Given the description of an element on the screen output the (x, y) to click on. 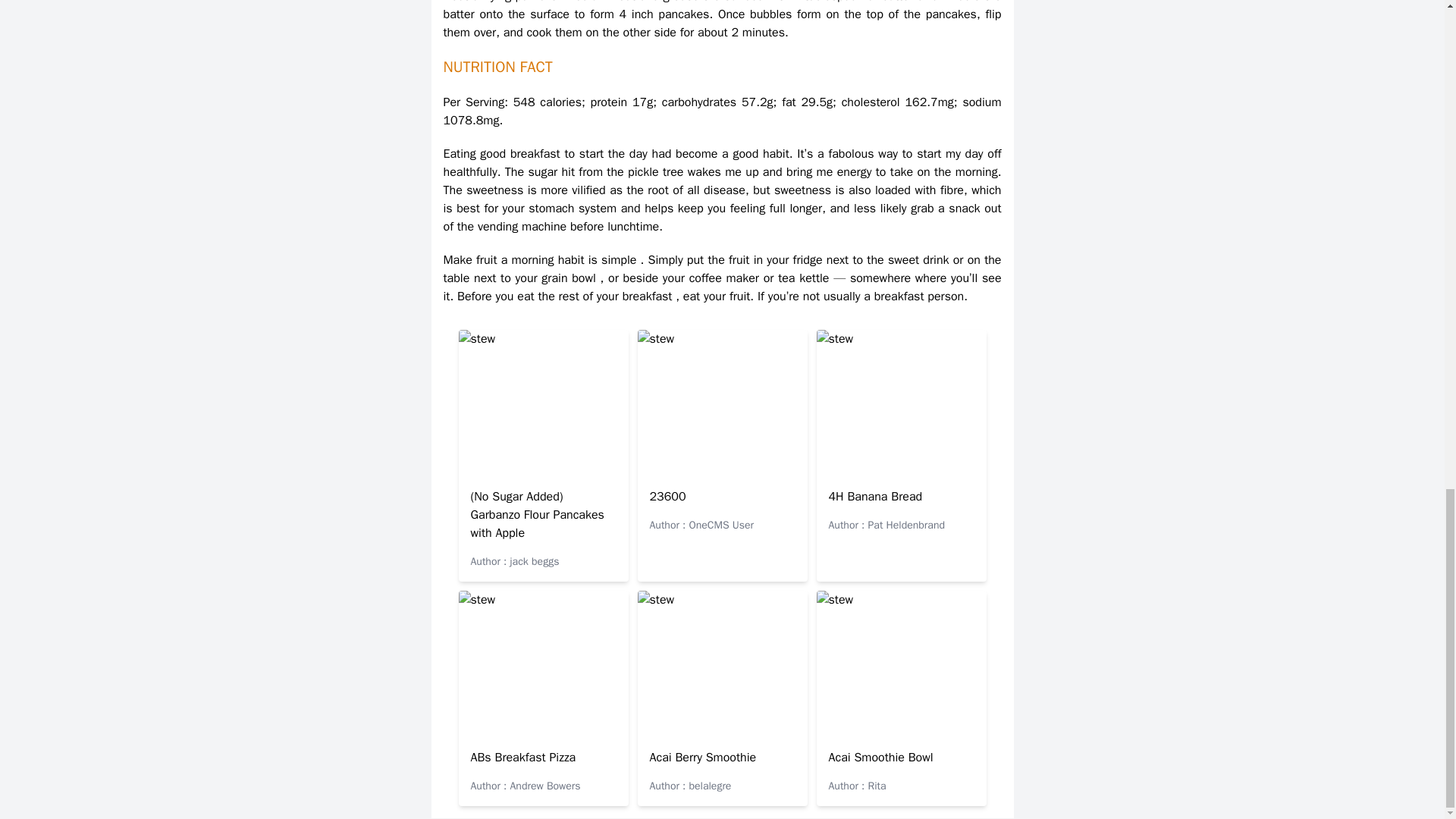
Acai Berry Smoothie (702, 757)
ABs Breakfast Pizza (522, 757)
23600 (667, 496)
4H Banana Bread (874, 496)
Acai Smoothie Bowl (880, 757)
